Given the description of an element on the screen output the (x, y) to click on. 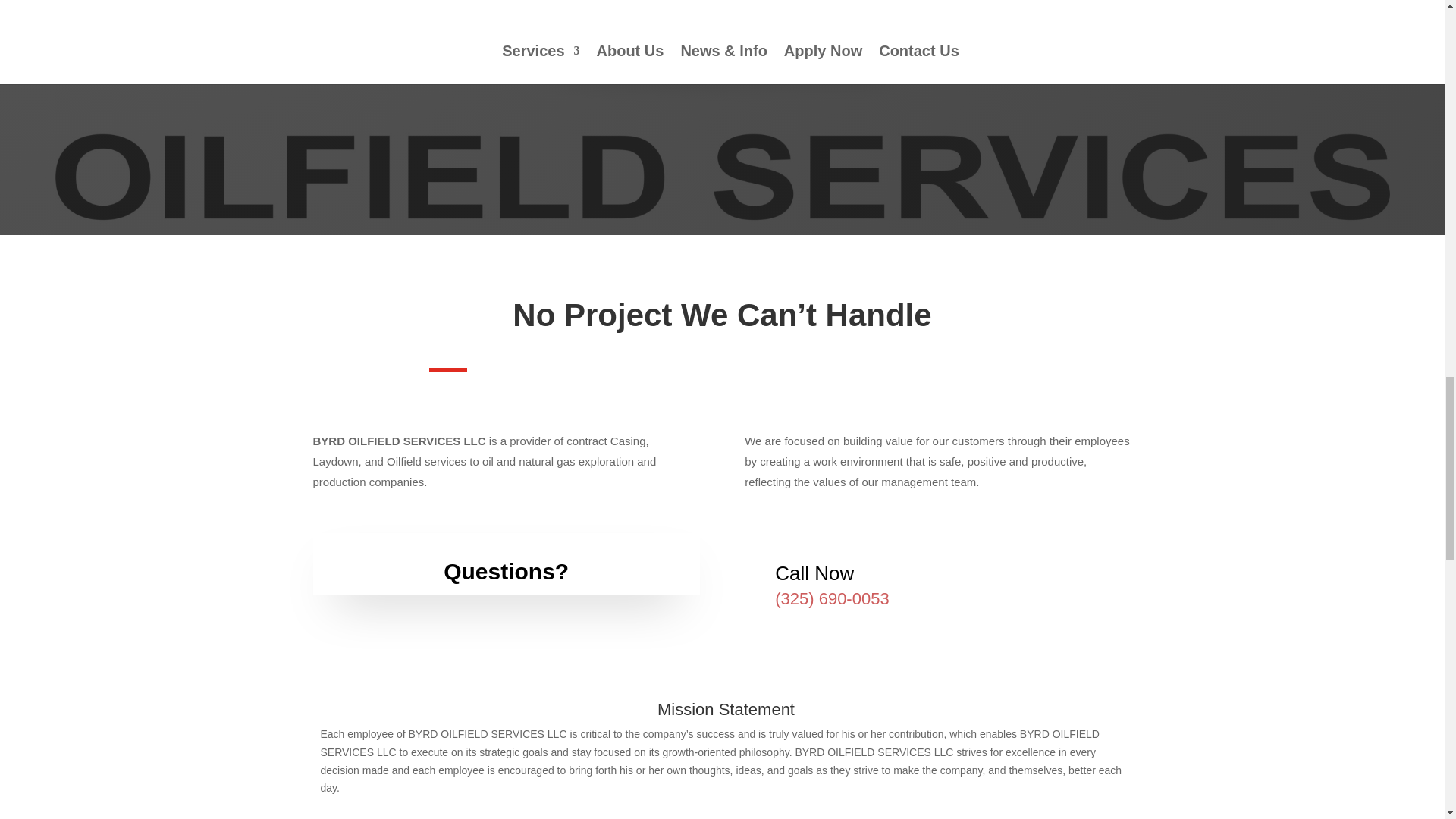
JOB APPLICATION (721, 47)
